Given the description of an element on the screen output the (x, y) to click on. 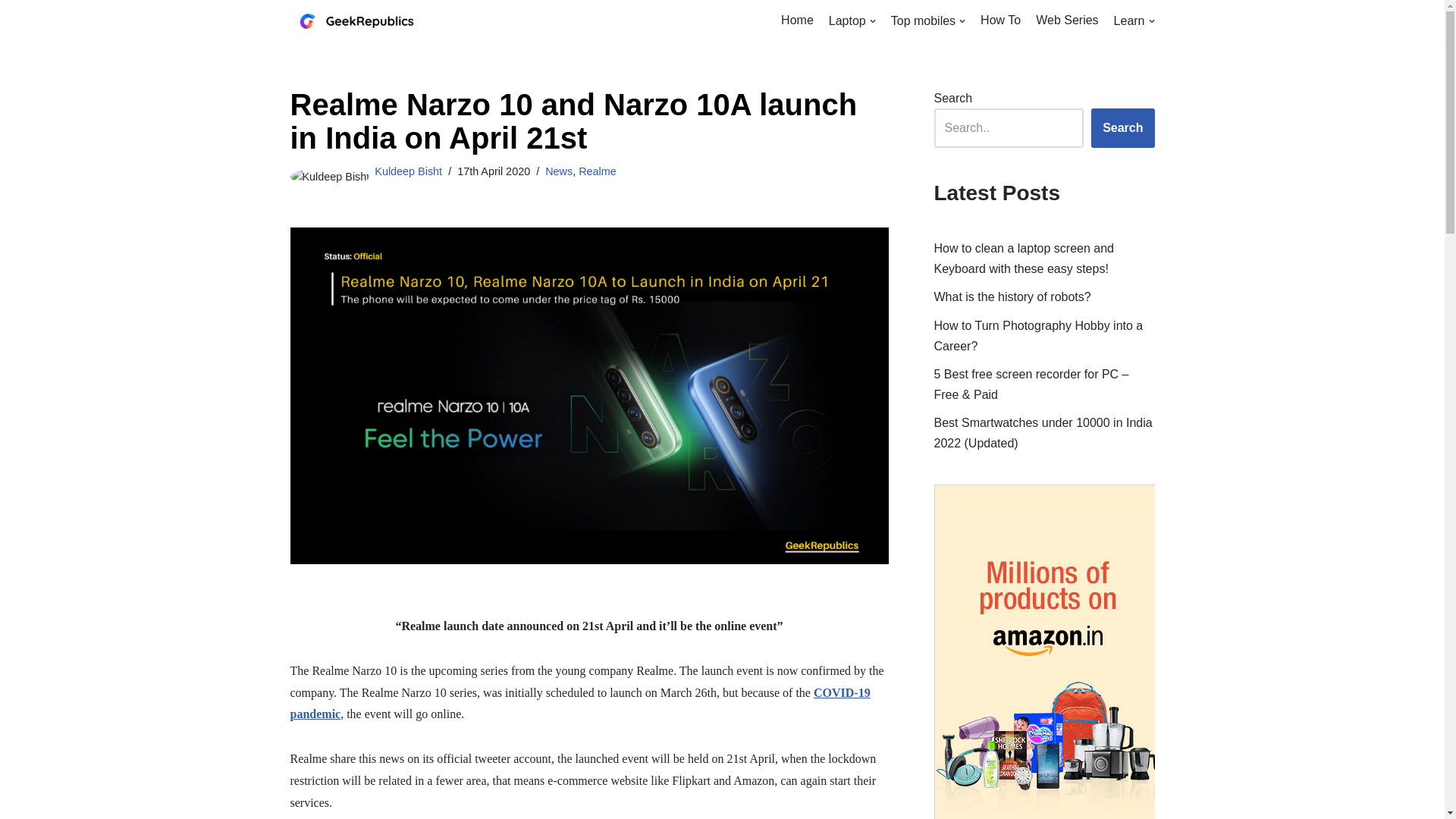
News (558, 171)
How To (999, 20)
Posts by Kuldeep Bisht (408, 171)
Skip to content (11, 31)
Learn (1133, 21)
Home (796, 20)
Top mobiles (928, 21)
GeekRepublics  (365, 20)
Laptop (852, 21)
COVID-19 pandemic (579, 703)
Web Series (1066, 20)
Kuldeep Bisht (408, 171)
Realme (596, 171)
